Given the description of an element on the screen output the (x, y) to click on. 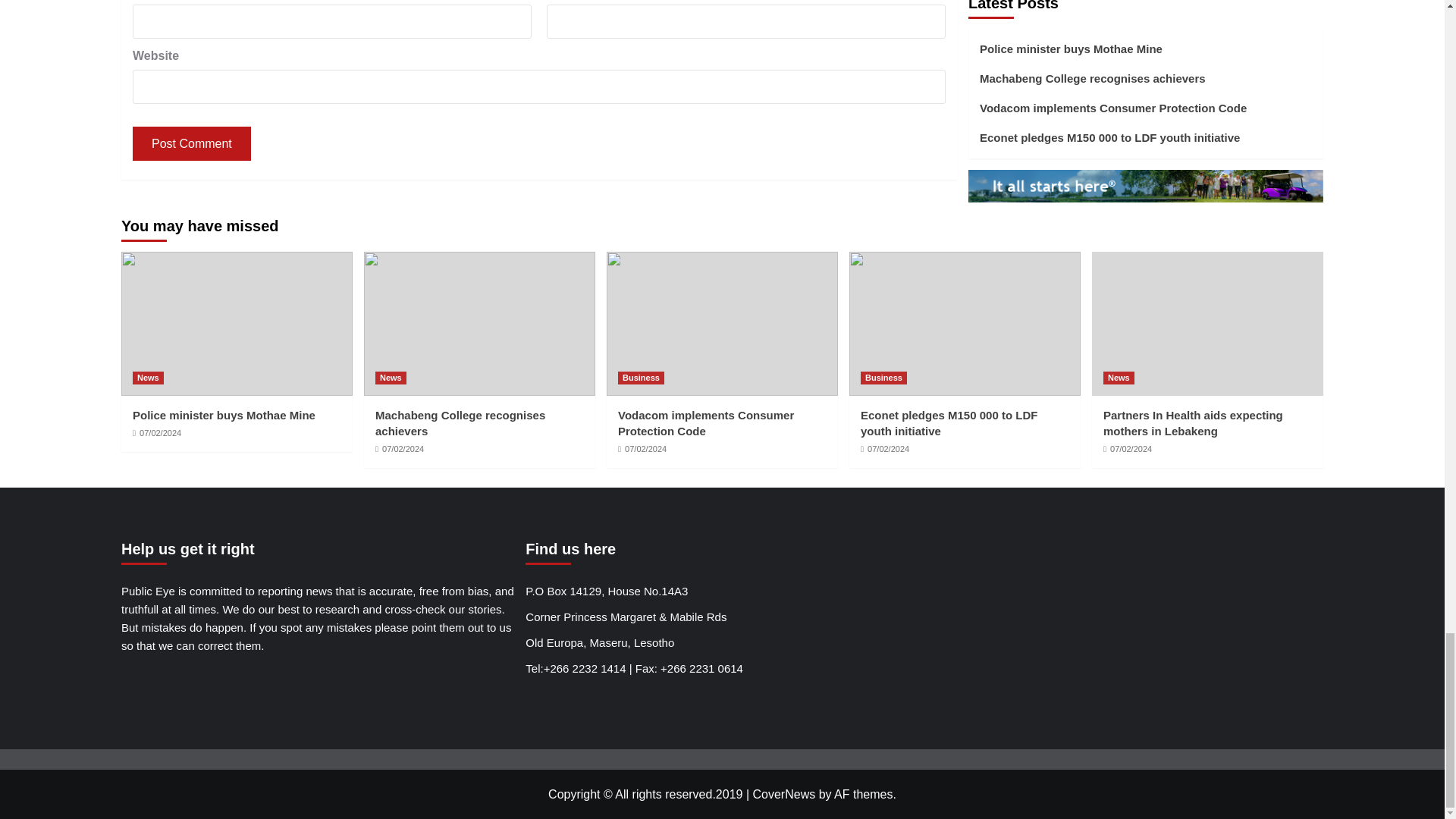
Post Comment (191, 143)
